Given the description of an element on the screen output the (x, y) to click on. 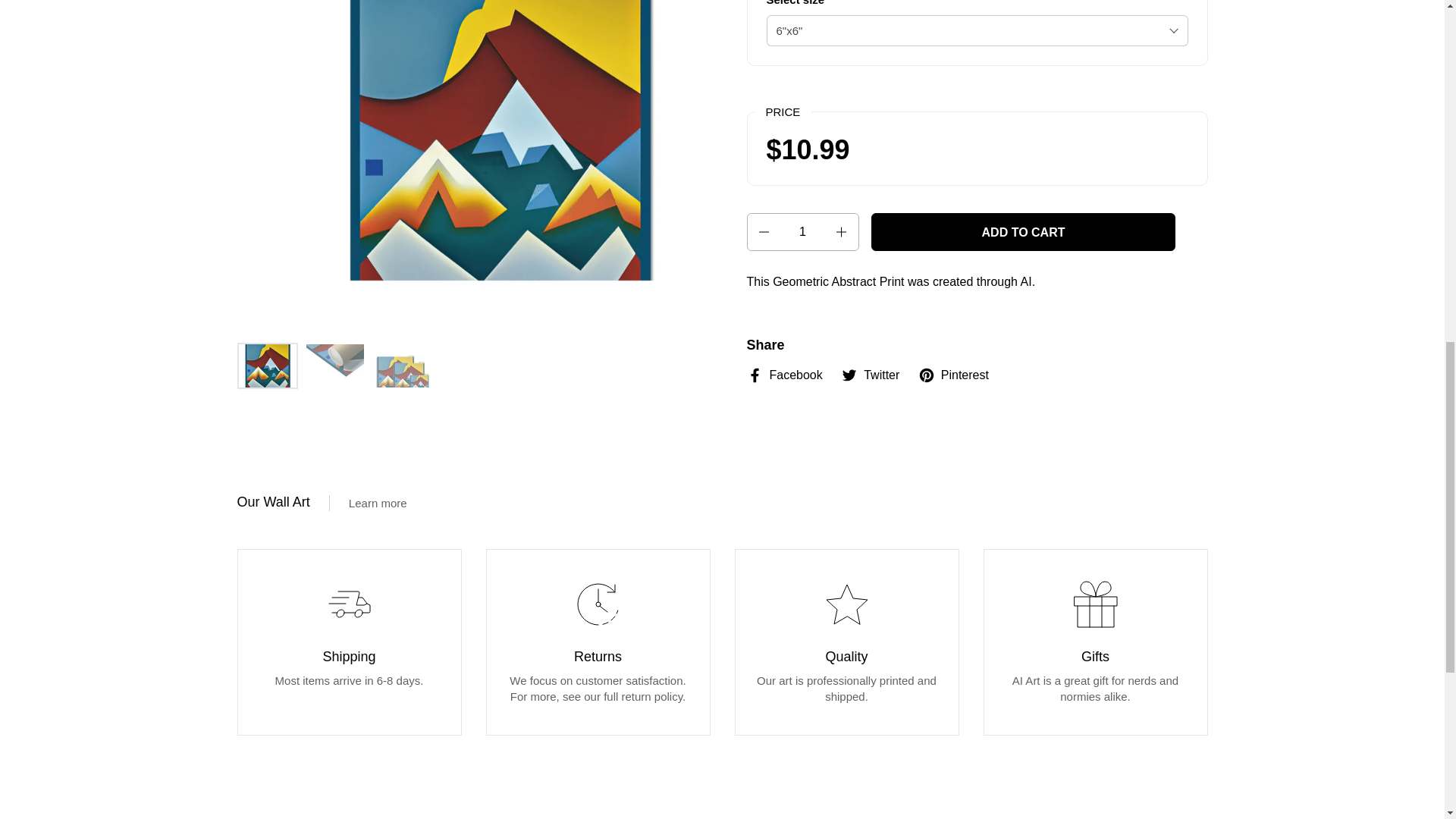
Share on facebook (783, 375)
Share on twitter (870, 375)
Share on pinterest (953, 375)
